Given the description of an element on the screen output the (x, y) to click on. 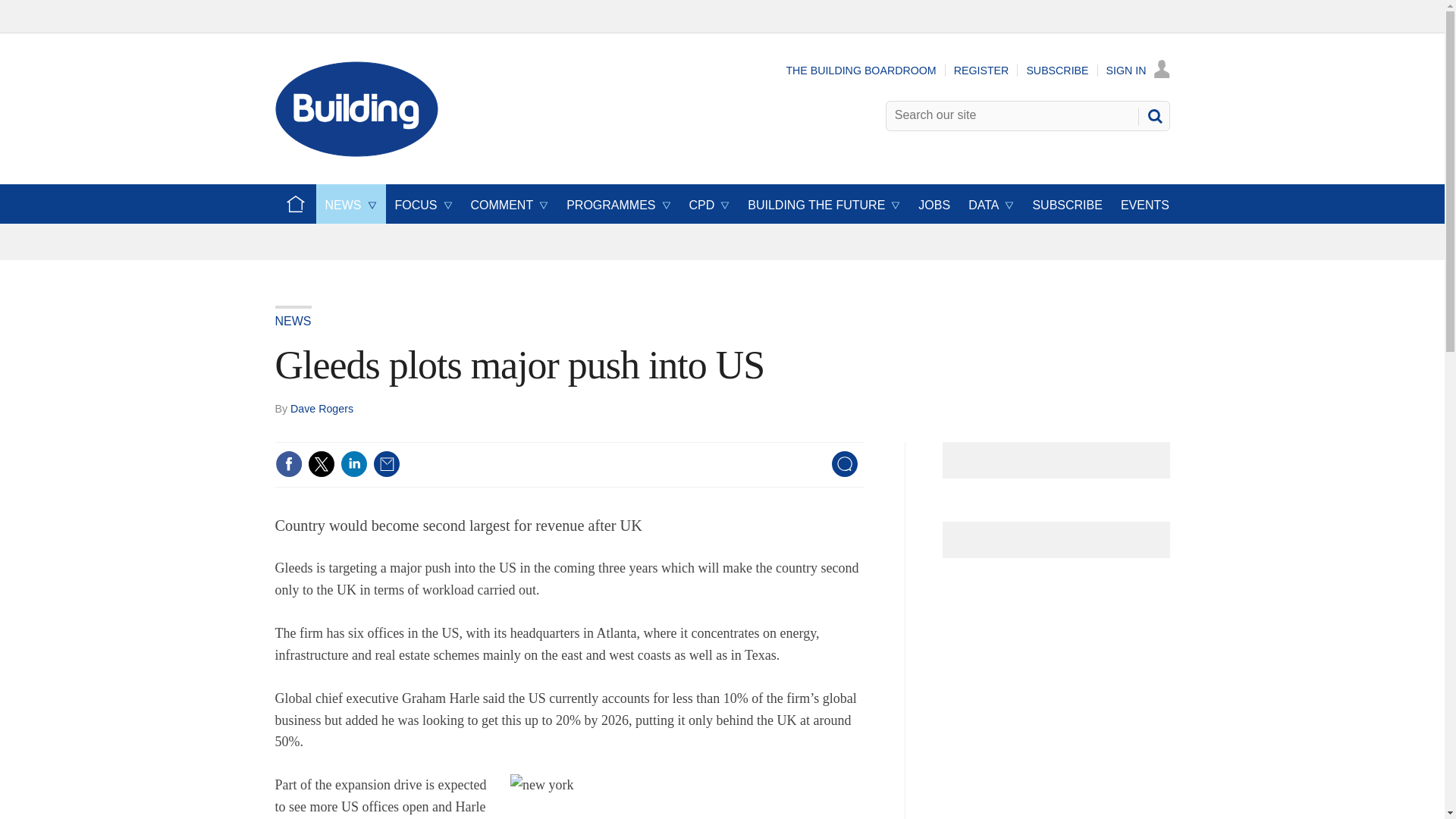
Email this article (386, 463)
Share this on Linked in (352, 463)
Share this on Facebook (288, 463)
Share this on Twitter (320, 463)
THE BUILDING BOARDROOM (861, 70)
Insert Logo text (356, 152)
SEARCH (1153, 115)
No comments (840, 473)
REGISTER (981, 70)
SIGN IN (1138, 70)
SUBSCRIBE (1056, 70)
